Given the description of an element on the screen output the (x, y) to click on. 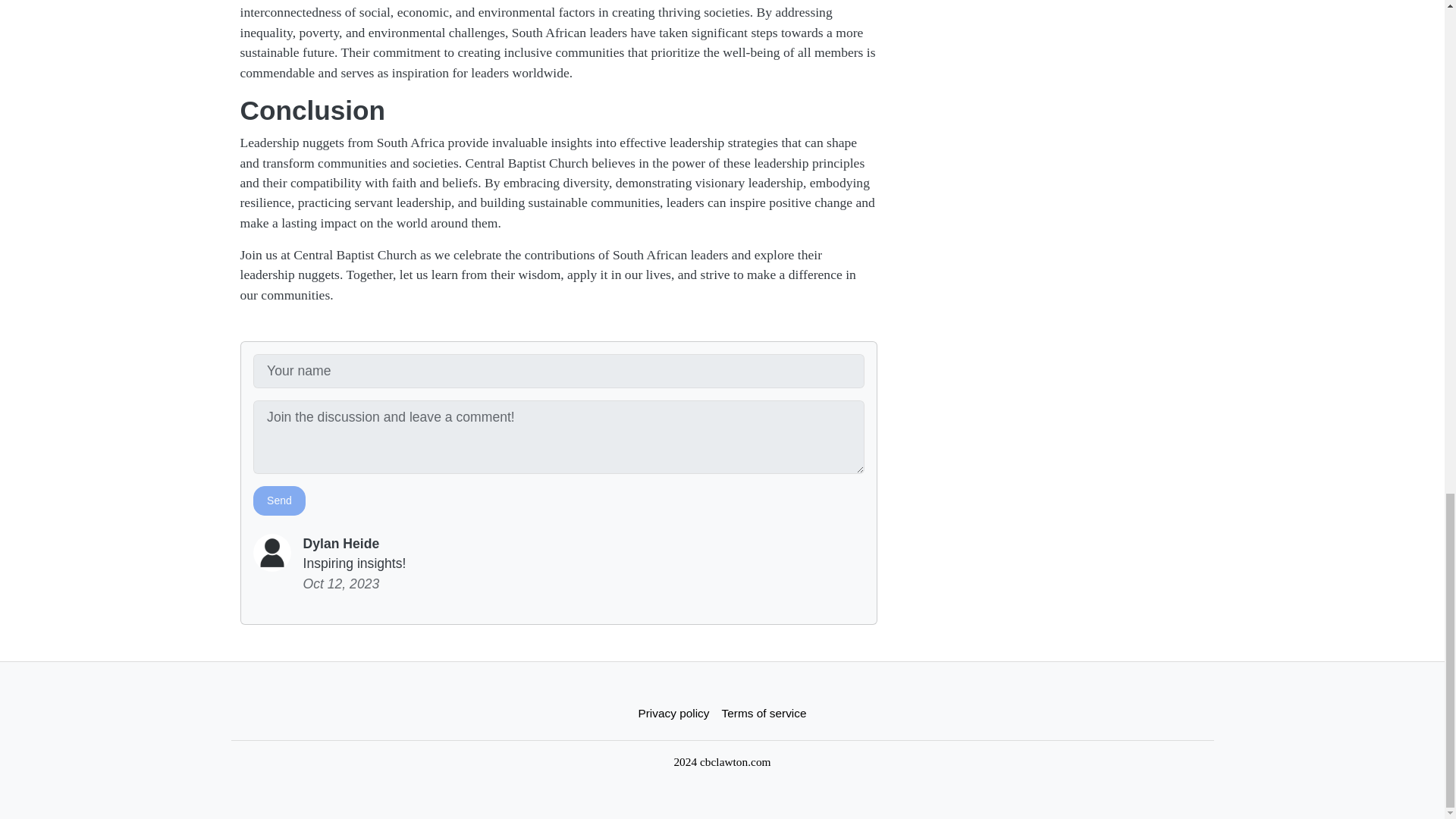
Send (279, 500)
Privacy policy (672, 713)
Terms of service (764, 713)
Send (279, 500)
